Given the description of an element on the screen output the (x, y) to click on. 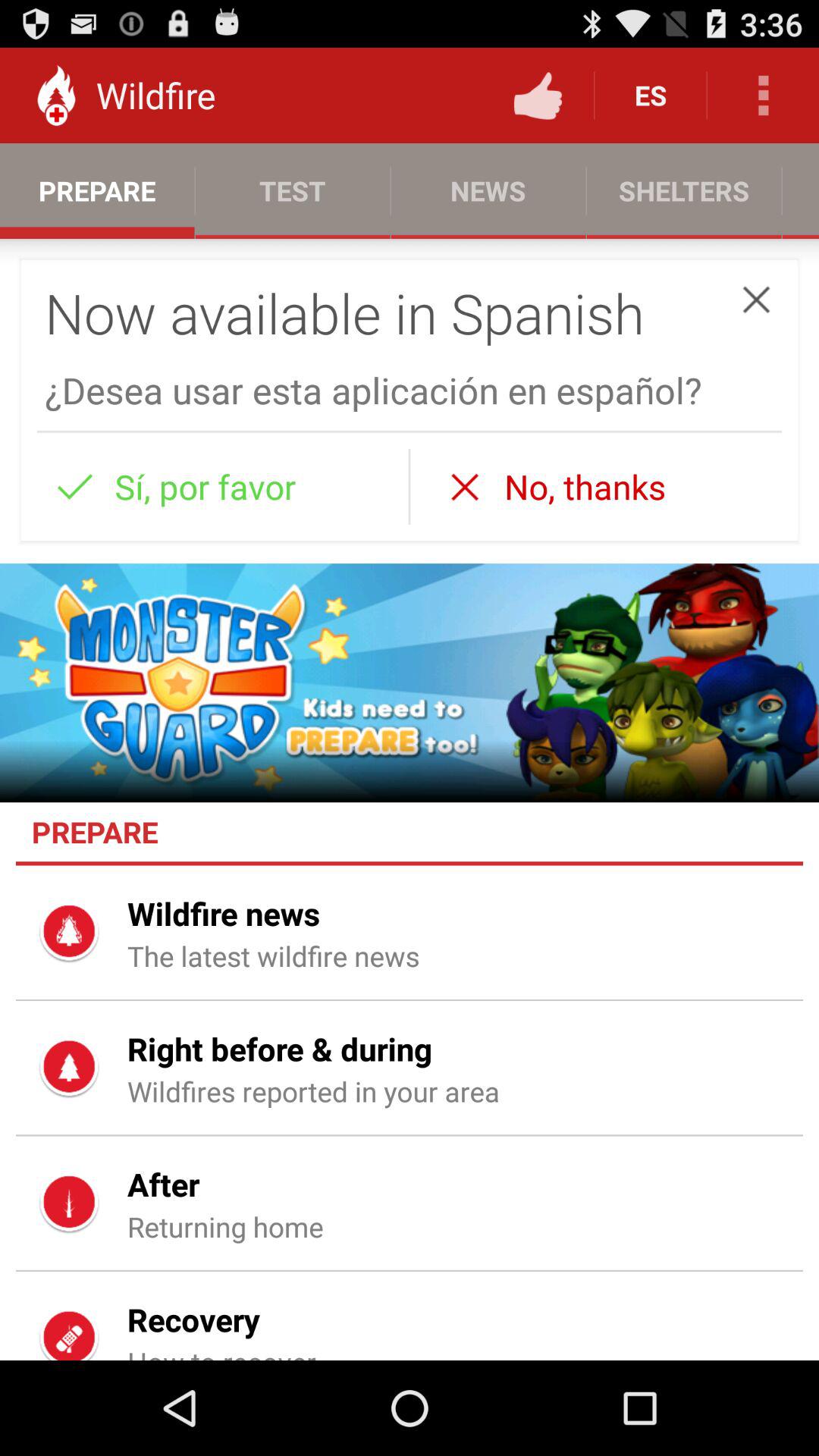
swipe to es icon (650, 95)
